Given the description of an element on the screen output the (x, y) to click on. 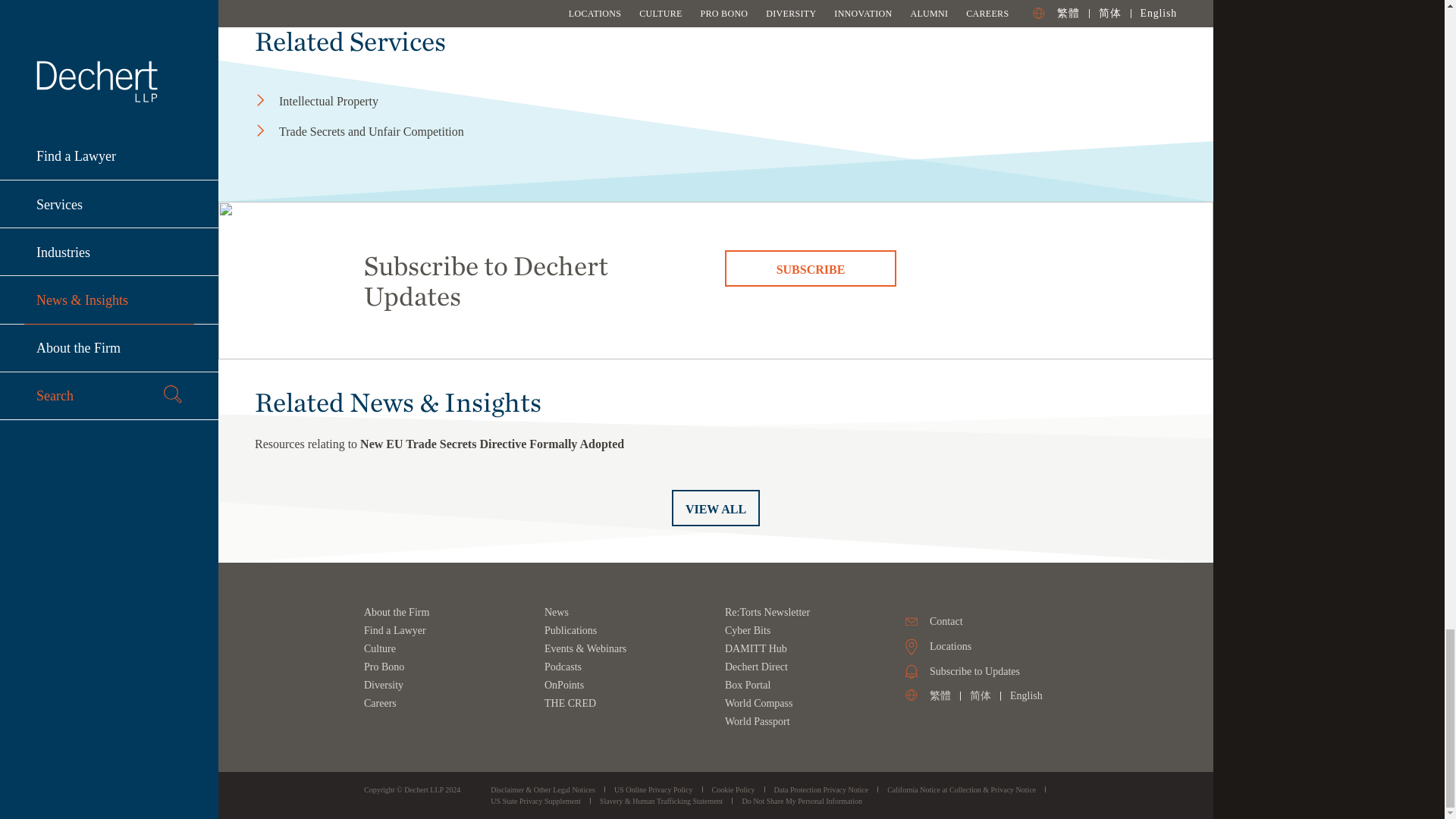
About the Firm (396, 612)
Find a Lawyer (395, 630)
Culture (380, 648)
SUBSCRIBE (810, 268)
Trade Secrets and Unfair Competition (404, 131)
Intellectual Property (404, 101)
VIEW ALL (715, 507)
Traditional Chinese (940, 695)
Simplified Chinese (980, 695)
